Given the description of an element on the screen output the (x, y) to click on. 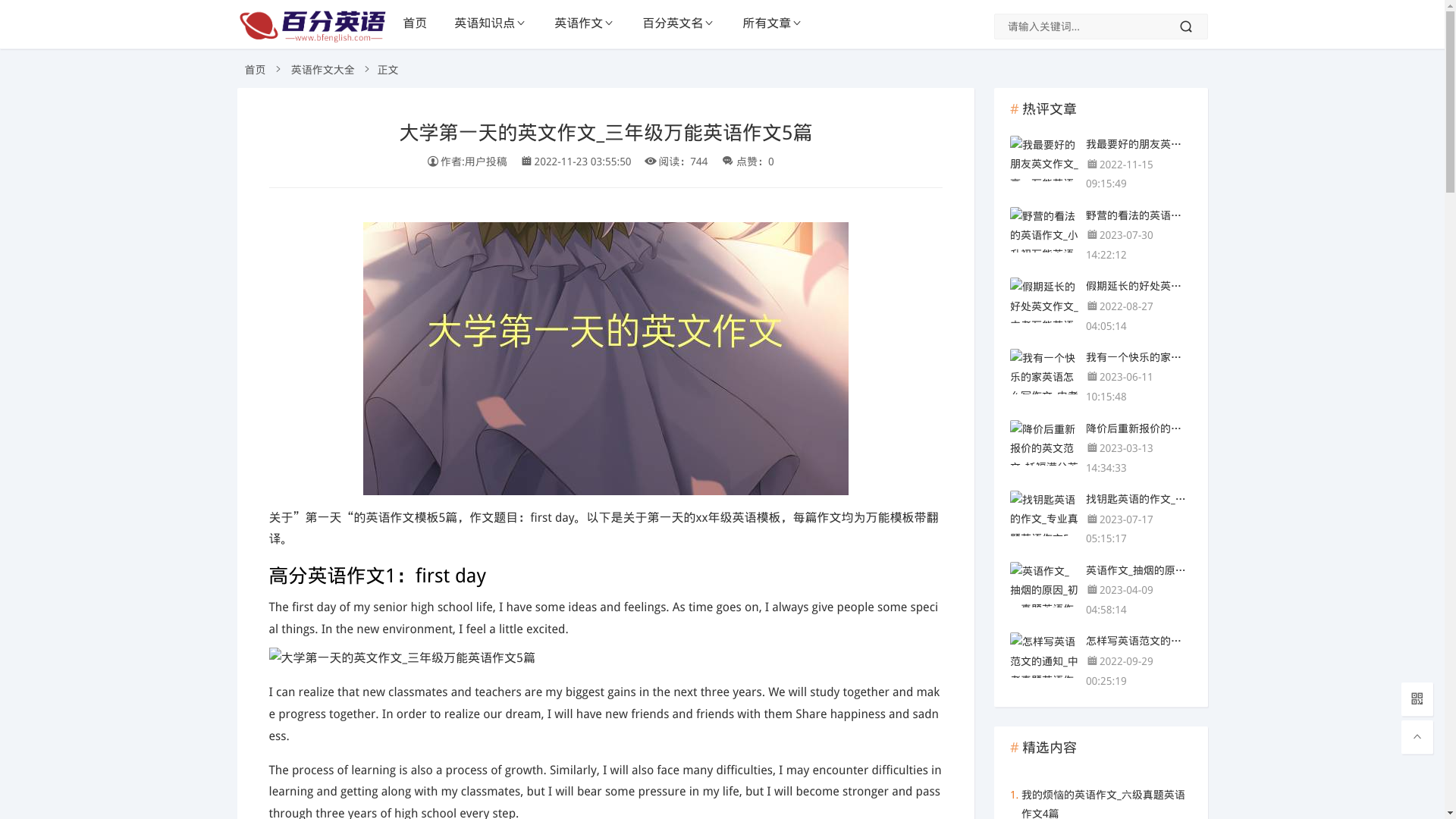
2022-11-23 03:55:50 (582, 161)
